Given the description of an element on the screen output the (x, y) to click on. 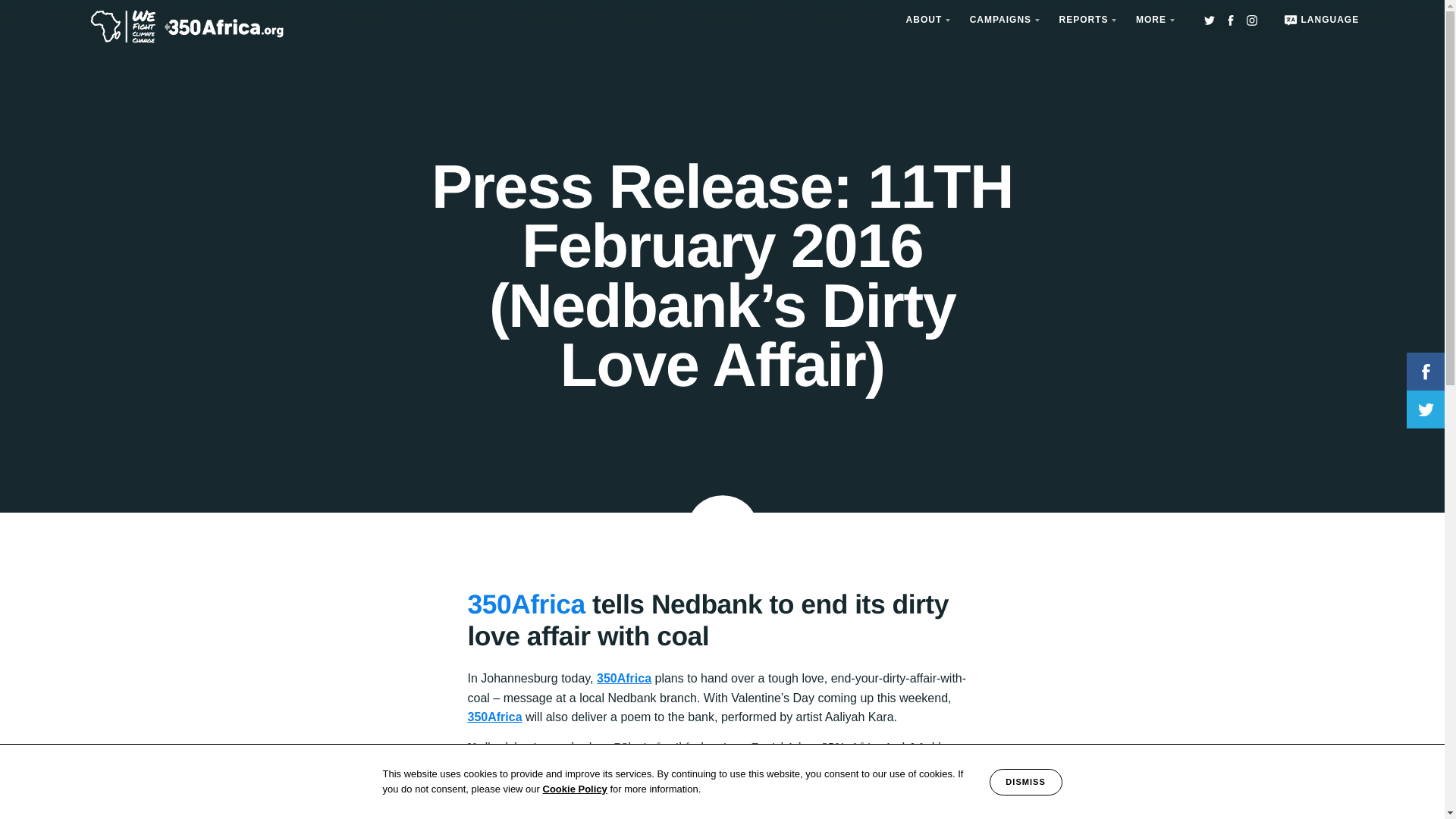
REPORTS (1084, 20)
ABOUT (925, 20)
LANGUAGE (1318, 20)
350Africa (526, 603)
Insta (1251, 20)
350Africa (623, 677)
Twitter (1209, 20)
MORE (1152, 20)
Facebook (1230, 20)
CAMPAIGNS (1002, 20)
350Africa (494, 716)
